Given the description of an element on the screen output the (x, y) to click on. 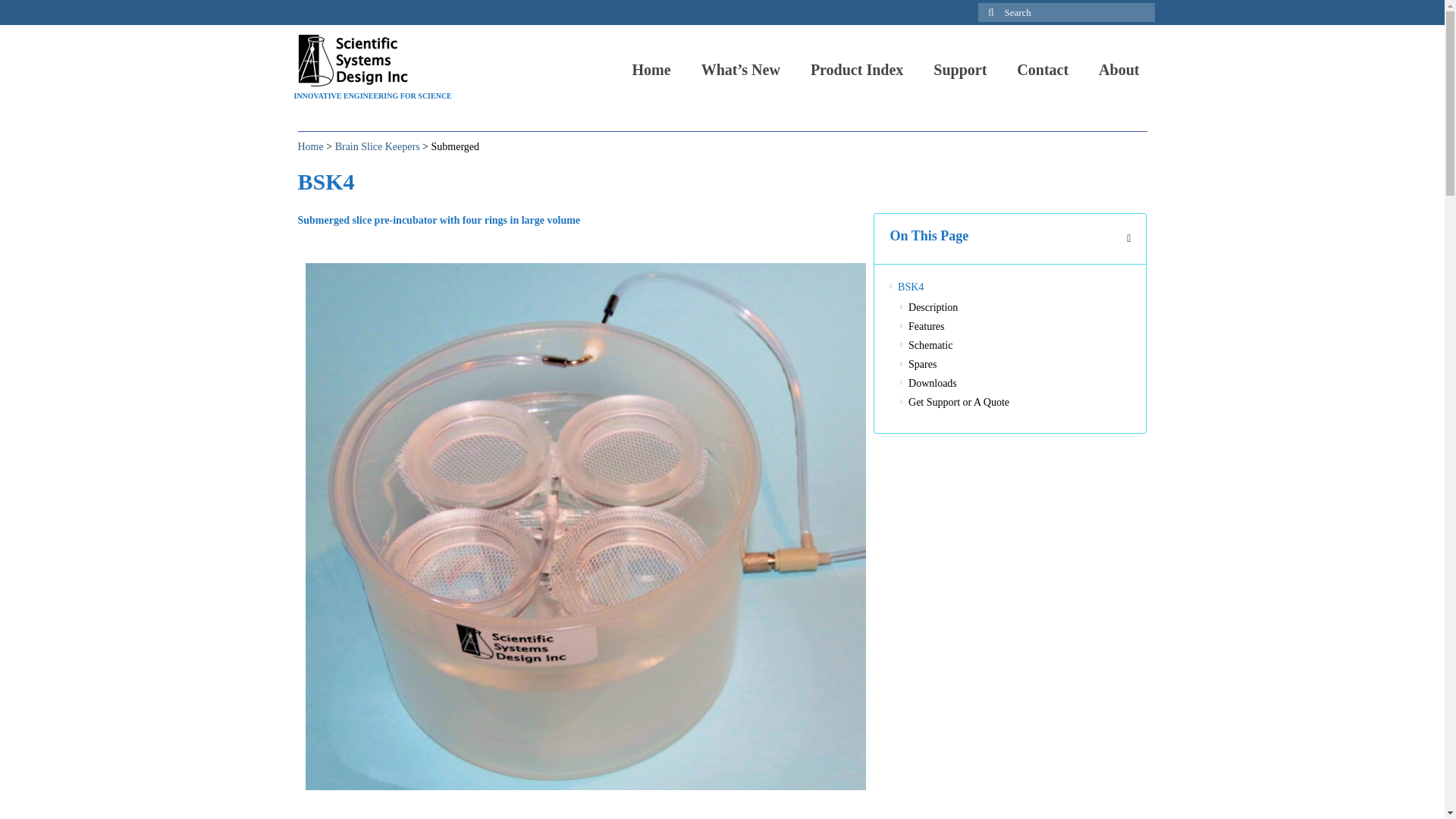
Contact (1042, 69)
Support (959, 69)
About (1118, 69)
Home (651, 69)
Product Index (856, 69)
